Given the description of an element on the screen output the (x, y) to click on. 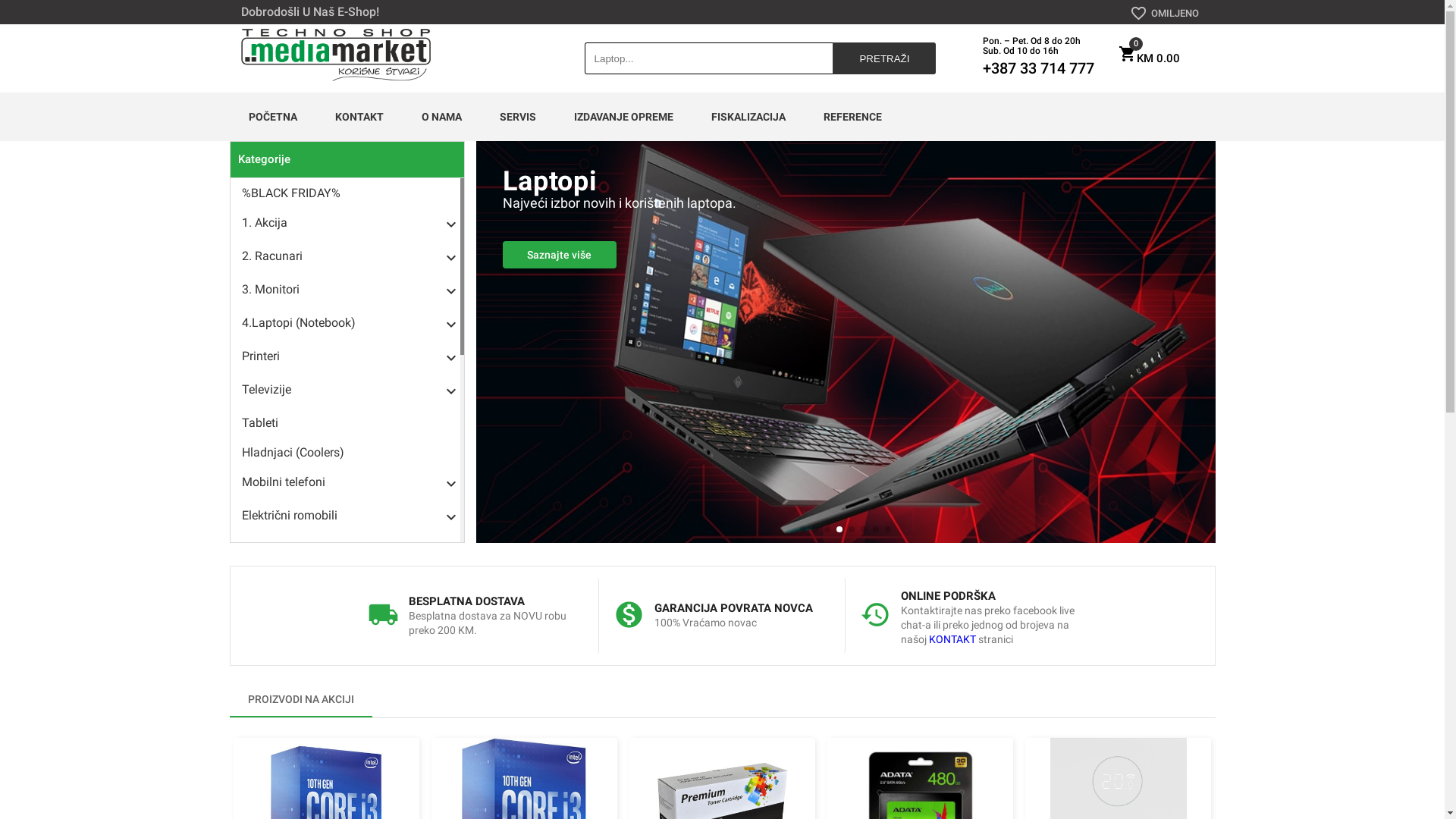
favorite_border OMILJENO Element type: text (1163, 12)
Pametni satovi Element type: text (345, 748)
KONTAKT Element type: text (358, 116)
Gaming
expand_more Element type: text (345, 550)
3. Monitori
expand_more Element type: text (345, 290)
+387 33 714 777 Element type: text (1038, 68)
2. Racunari
expand_more Element type: text (345, 257)
Televizije
expand_more Element type: text (345, 390)
Mobilni telefoni
expand_more Element type: text (345, 483)
Grijanje
expand_more Element type: text (345, 717)
O NAMA Element type: text (440, 116)
%BLACK FRIDAY% Element type: text (345, 192)
REFERENCE Element type: text (851, 116)
Printeri
expand_more Element type: text (345, 357)
Klime
expand_more Element type: text (345, 683)
4.Laptopi (Notebook)
expand_more Element type: text (345, 324)
Projektori
expand_more Element type: text (345, 780)
1. Akcija
expand_more Element type: text (345, 224)
KONTAKT Element type: text (951, 639)
FISKALIZACIJA Element type: text (747, 116)
SERVIS Element type: text (517, 116)
IZDAVANJE OPREME Element type: text (623, 116)
Periferija
expand_more Element type: text (345, 616)
local_grocery_store
0
KM 0.00 Element type: text (1148, 57)
Komponente
expand_more Element type: text (345, 583)
Tableti Element type: text (345, 422)
Hladnjaci (Coolers) Element type: text (345, 452)
